Given the description of an element on the screen output the (x, y) to click on. 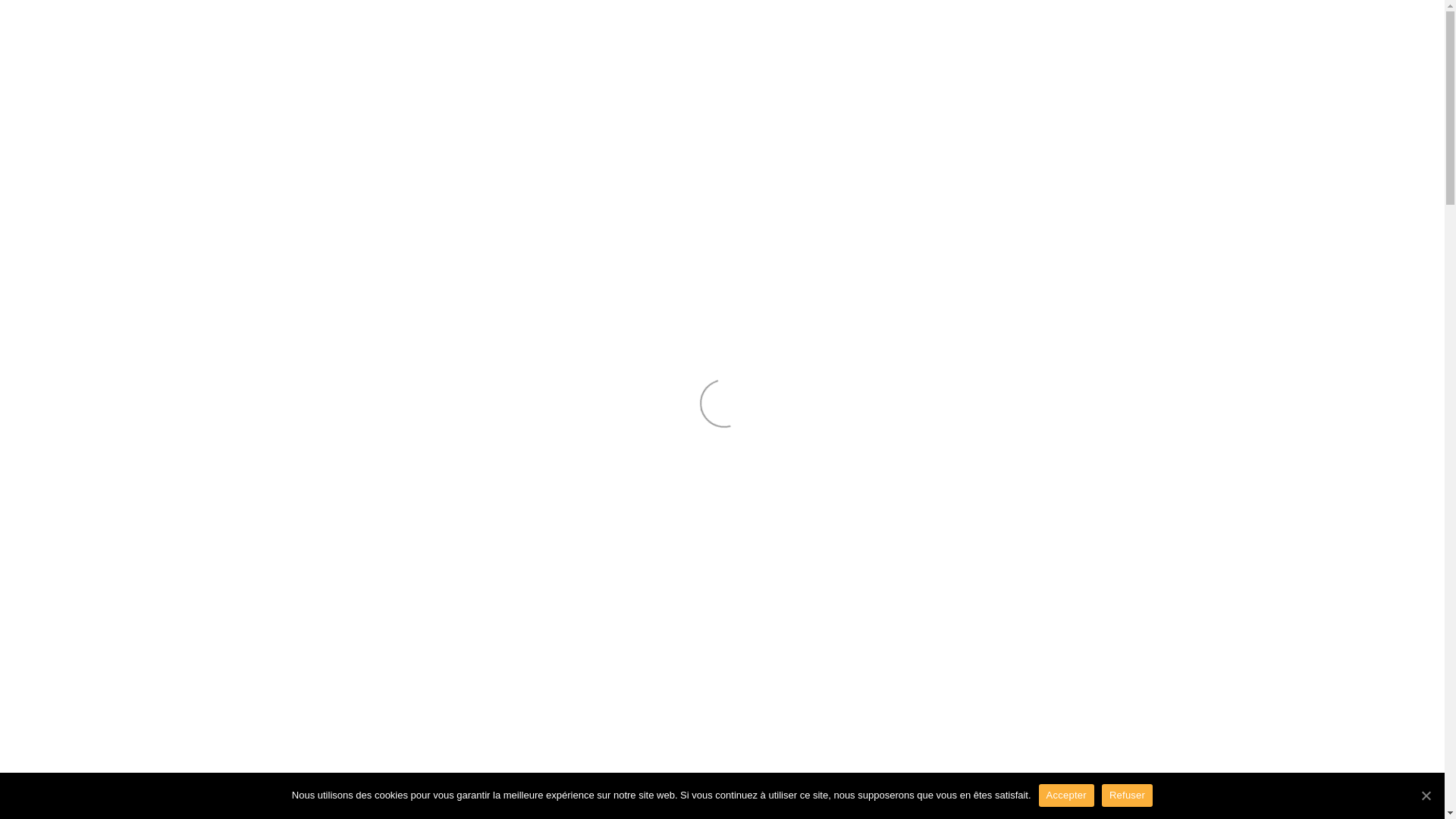
QUI SOMMES NOUS Element type: text (1067, 28)
Facebook Element type: hover (1358, 30)
E-mail Element type: hover (1404, 30)
ACCUEIL Element type: text (966, 28)
ALBUMS Element type: text (1217, 28)
Refuser Element type: text (1126, 795)
DONS Element type: text (1159, 28)
Instagram Element type: hover (1381, 30)
  Element type: text (32, 30)
Accepter Element type: text (1066, 795)
CONTACT Element type: text (1288, 28)
Les amis des chevaux et bovins du marais Element type: hover (32, 30)
